Given the description of an element on the screen output the (x, y) to click on. 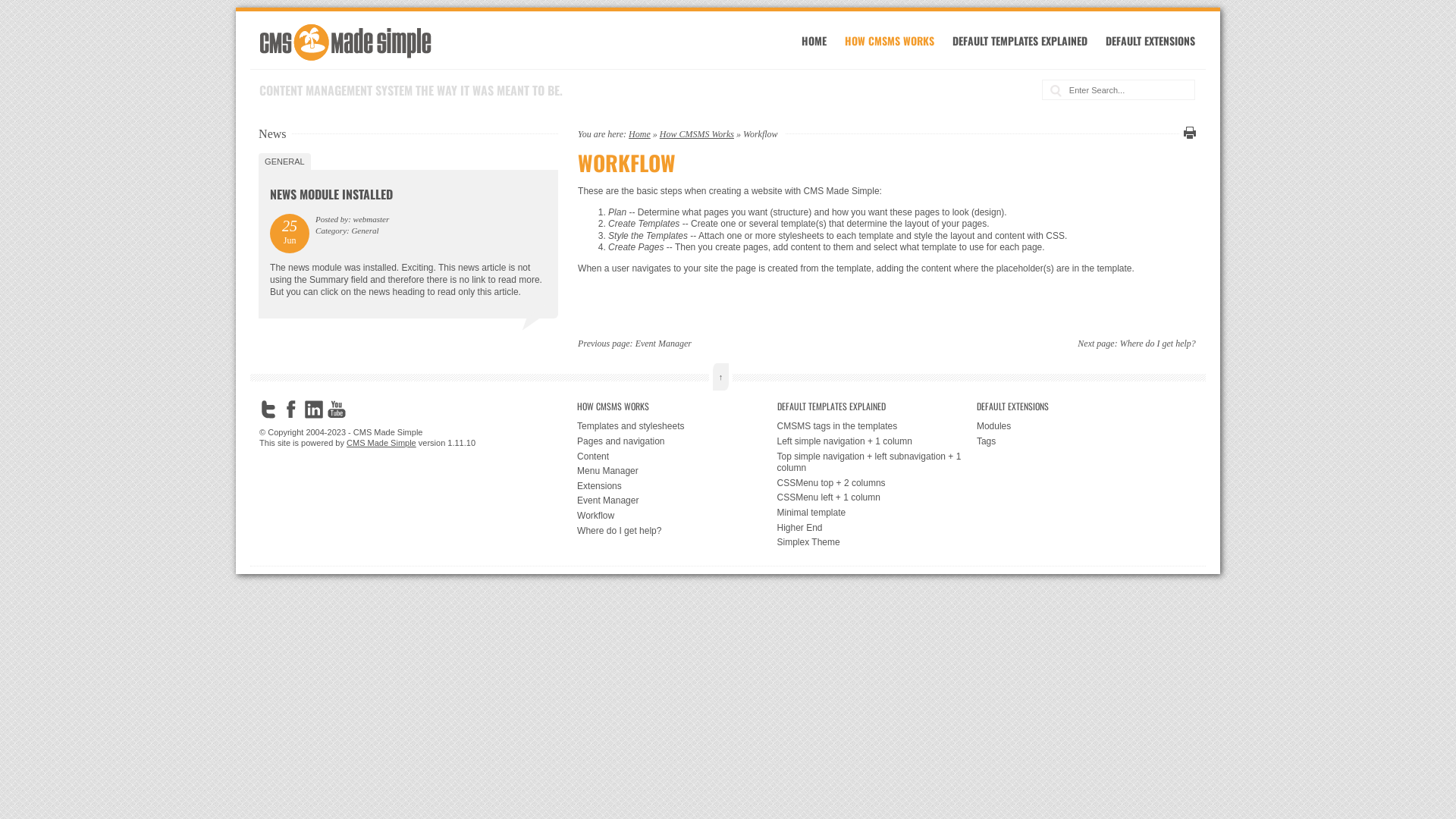
YouTube Element type: text (336, 409)
Simplex Theme Element type: text (875, 542)
Menu Manager Element type: text (676, 471)
Home Element type: text (639, 133)
GENERAL Element type: text (284, 161)
Tags Element type: text (1076, 441)
How CMSMS Works Element type: text (696, 133)
CMS Made Simple Element type: text (381, 442)
Facebook Element type: text (291, 409)
Templates and stylesheets Element type: text (676, 426)
Extensions Element type: text (676, 486)
HOW CMSMS WORKS Element type: text (676, 406)
Where do I get help? Element type: text (676, 531)
DEFAULT EXTENSIONS Element type: text (1076, 406)
CMSMS tags in the templates Element type: text (875, 426)
NEWS MODULE INSTALLED Element type: text (330, 194)
Left simple navigation + 1 column Element type: text (875, 441)
DEFAULT EXTENSIONS Element type: text (1150, 40)
Workflow Element type: text (676, 516)
Minimal template Element type: text (875, 512)
Higher End Element type: text (875, 528)
Content Element type: text (676, 456)
CMSMS Demo Element type: hover (345, 61)
Event Manager Element type: text (663, 343)
HOME Element type: text (813, 40)
Top simple navigation + left subnavigation + 1 column Element type: text (875, 462)
Print this page Element type: text (1187, 132)
CSSMenu top + 2 columns Element type: text (875, 483)
LinkedIn Element type: text (313, 409)
Event Manager Element type: text (676, 500)
Skip to navigation Element type: text (270, 27)
DEFAULT TEMPLATES EXPLAINED Element type: text (1019, 40)
HOW CMSMS WORKS Element type: text (889, 40)
DEFAULT TEMPLATES EXPLAINED Element type: text (875, 406)
CSSMenu left + 1 column Element type: text (875, 497)
Twitter Element type: text (268, 409)
Pages and navigation Element type: text (676, 441)
Modules Element type: text (1076, 426)
Where do I get help? Element type: text (1157, 343)
